Given the description of an element on the screen output the (x, y) to click on. 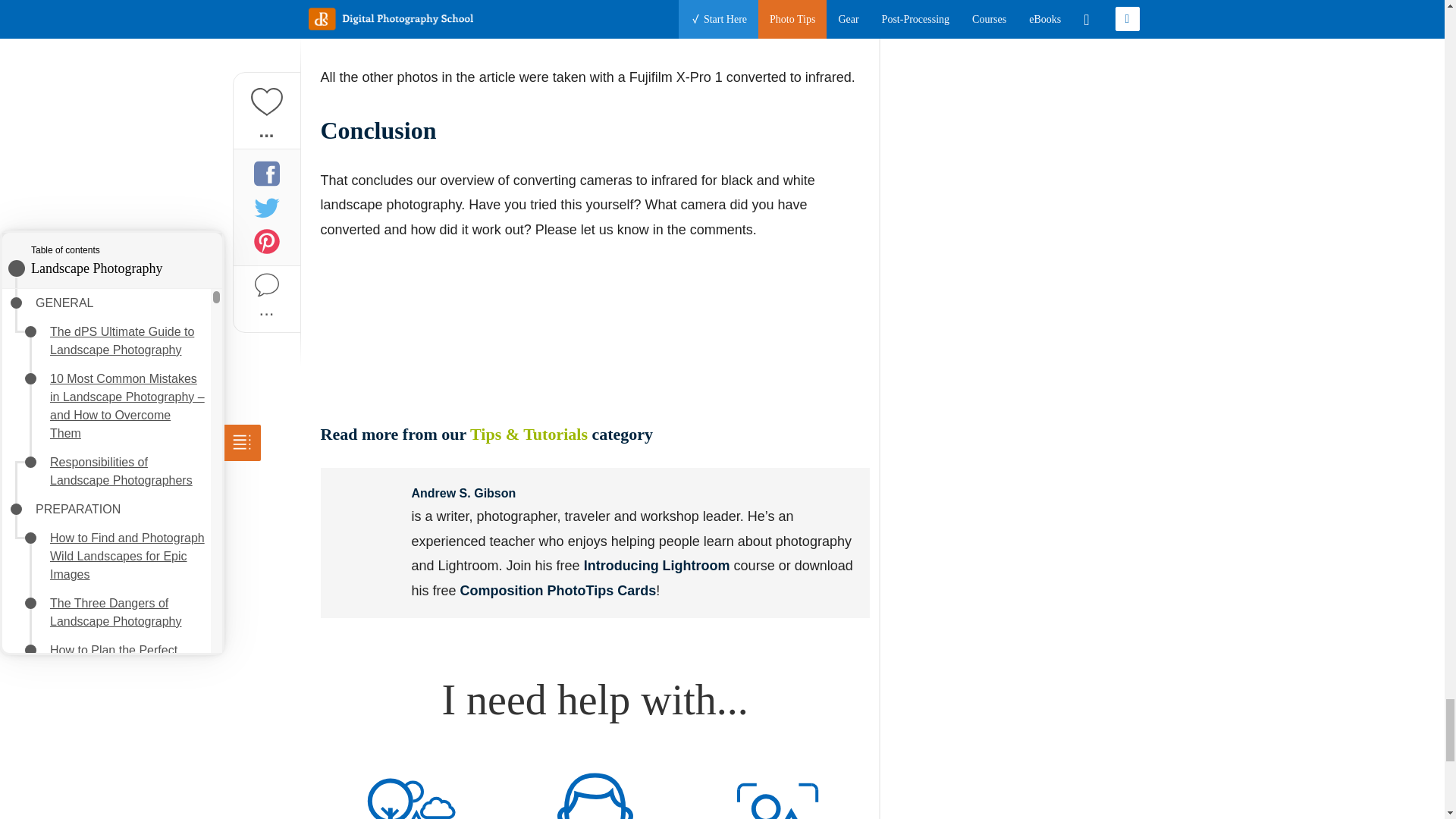
Landscape Photography Tips (411, 790)
Andrew S. Gibson (462, 492)
Photo Composition Tips (778, 790)
Portrait Photography Tips (595, 790)
Andrew S. Gibson (365, 513)
